Given the description of an element on the screen output the (x, y) to click on. 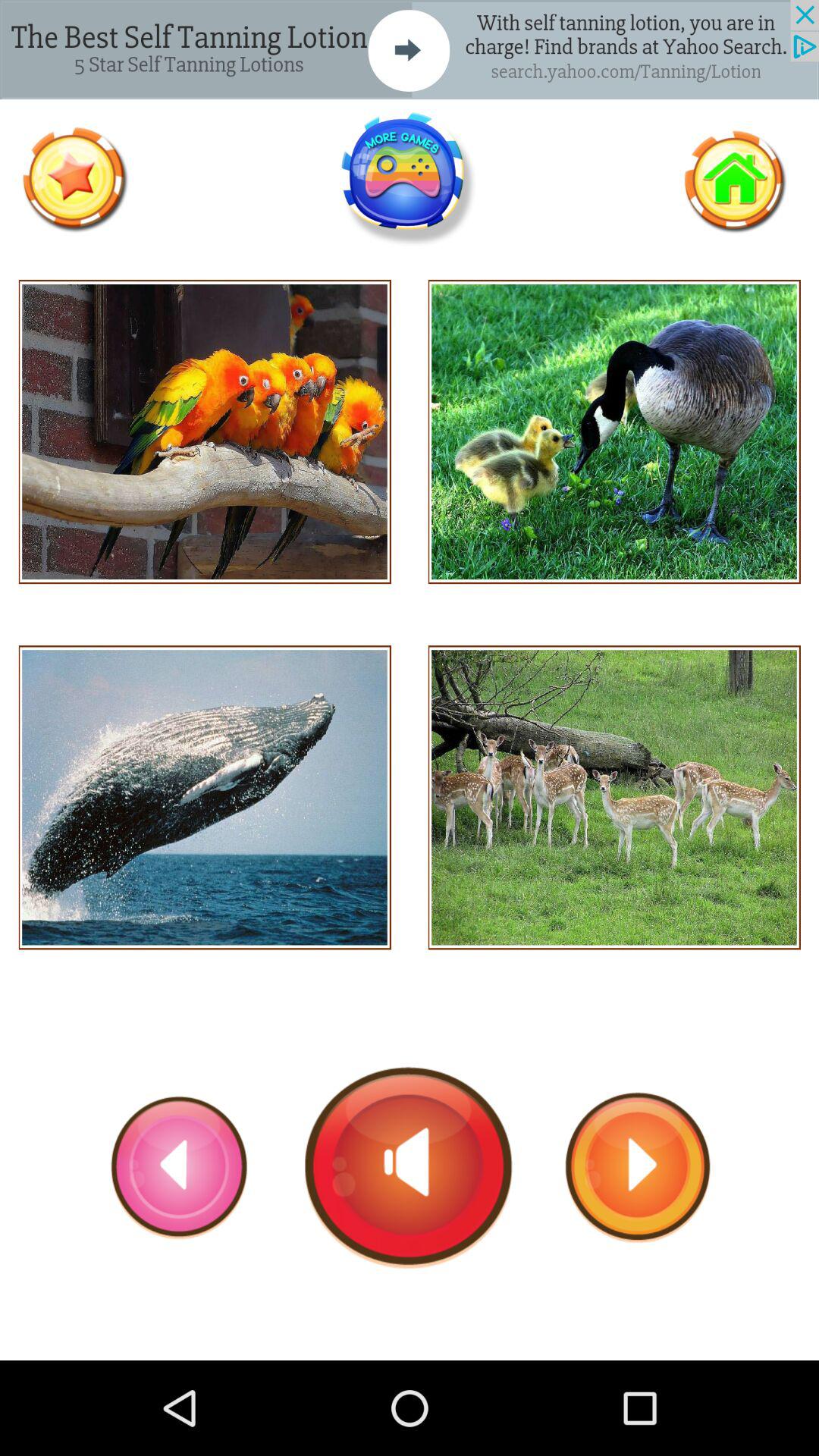
advertisement (408, 179)
